Given the description of an element on the screen output the (x, y) to click on. 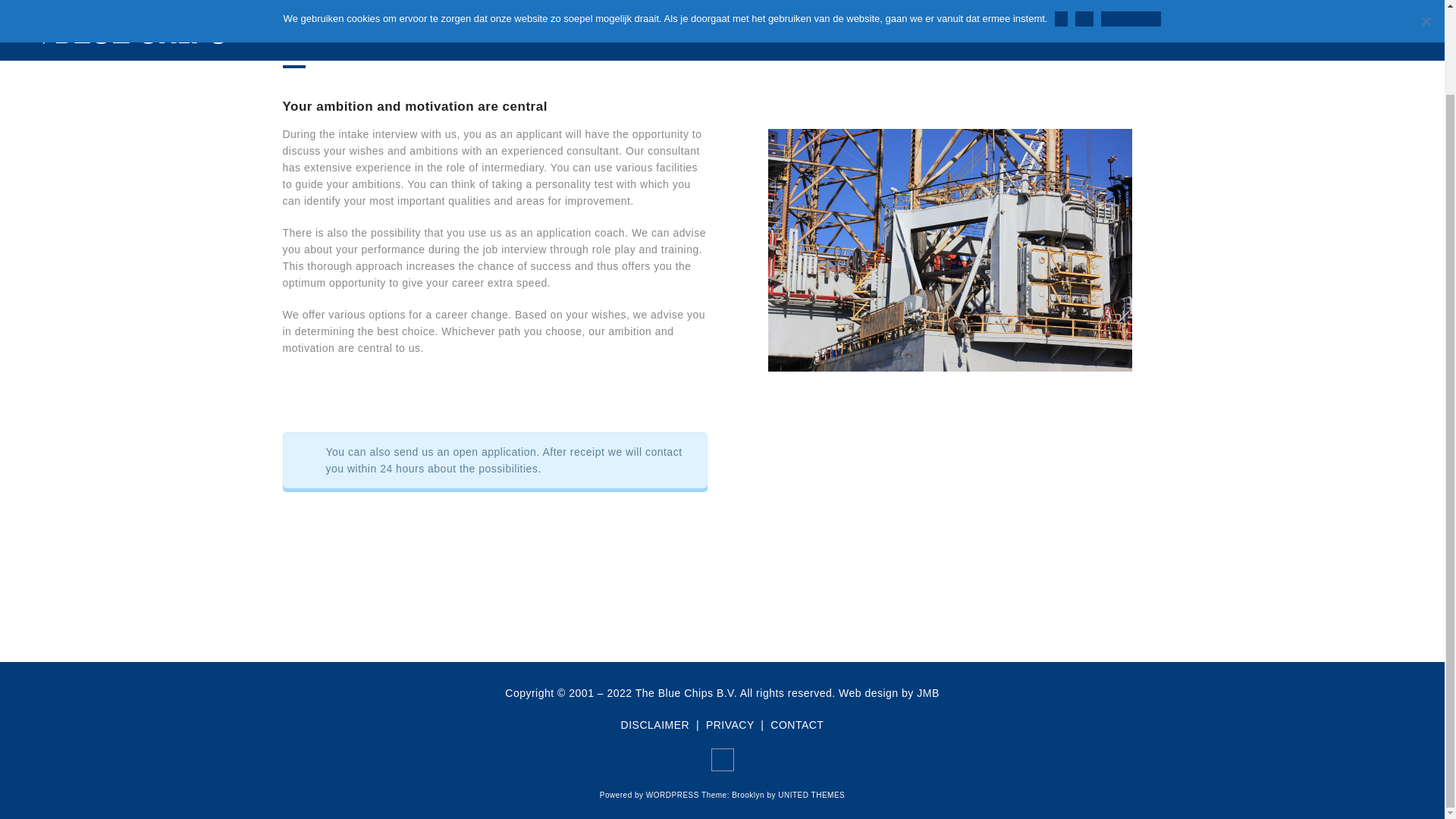
UNITED THEMES (810, 795)
PRIVACY (730, 725)
DISCLAIMER (655, 725)
WORDPRESS (672, 795)
A Semantic Personal Publishing Platform (672, 795)
JMB (928, 693)
CONTACT (797, 725)
